Given the description of an element on the screen output the (x, y) to click on. 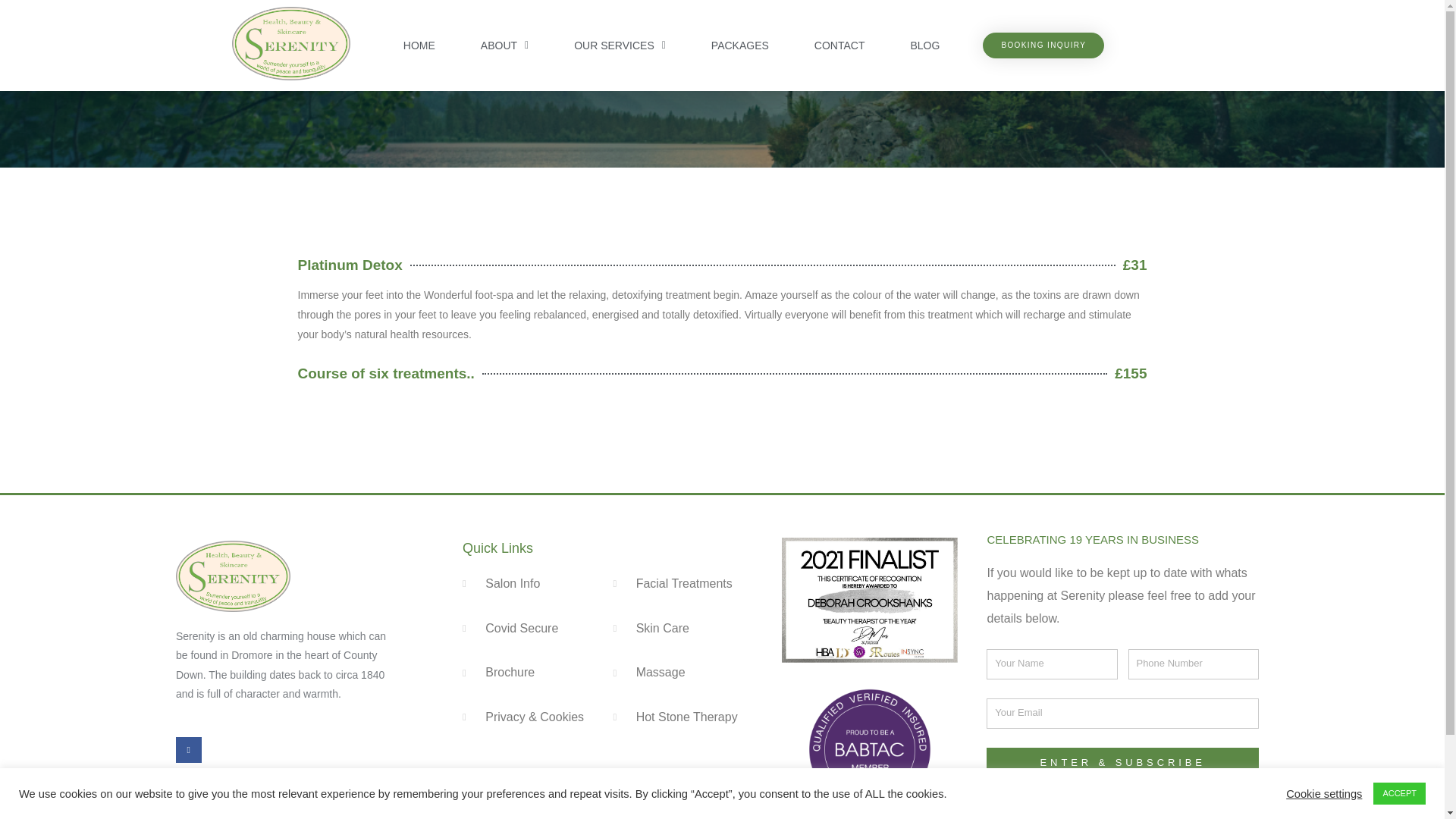
OUR SERVICES (620, 45)
HOME (418, 45)
CONTACT (839, 45)
BLOG (925, 45)
PACKAGES (739, 45)
ABOUT (504, 45)
